Given the description of an element on the screen output the (x, y) to click on. 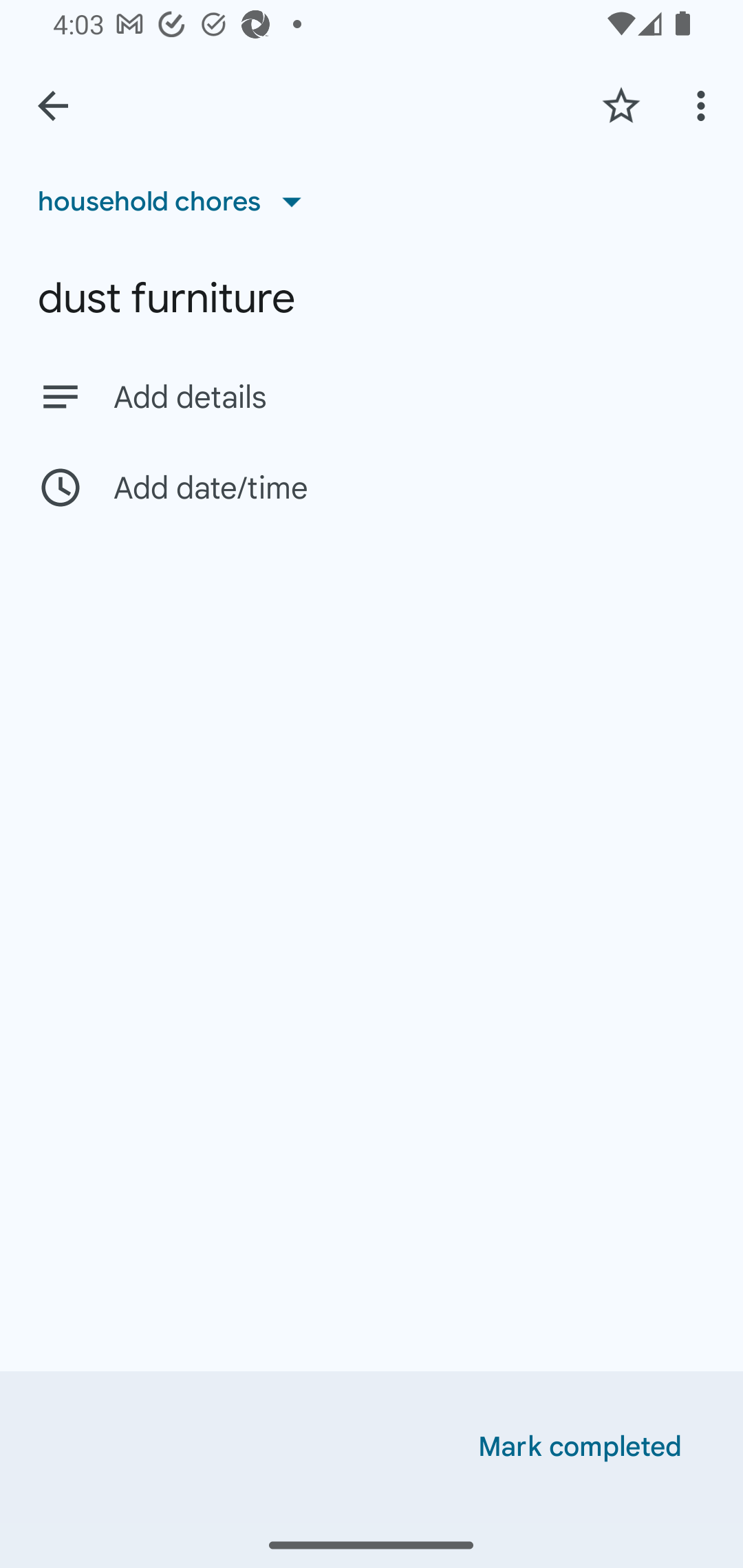
Back (53, 105)
Add star (620, 105)
More options (704, 105)
dust furniture (371, 298)
Add details (371, 396)
Add details (409, 397)
Add date/time (371, 487)
Mark completed (580, 1446)
